Given the description of an element on the screen output the (x, y) to click on. 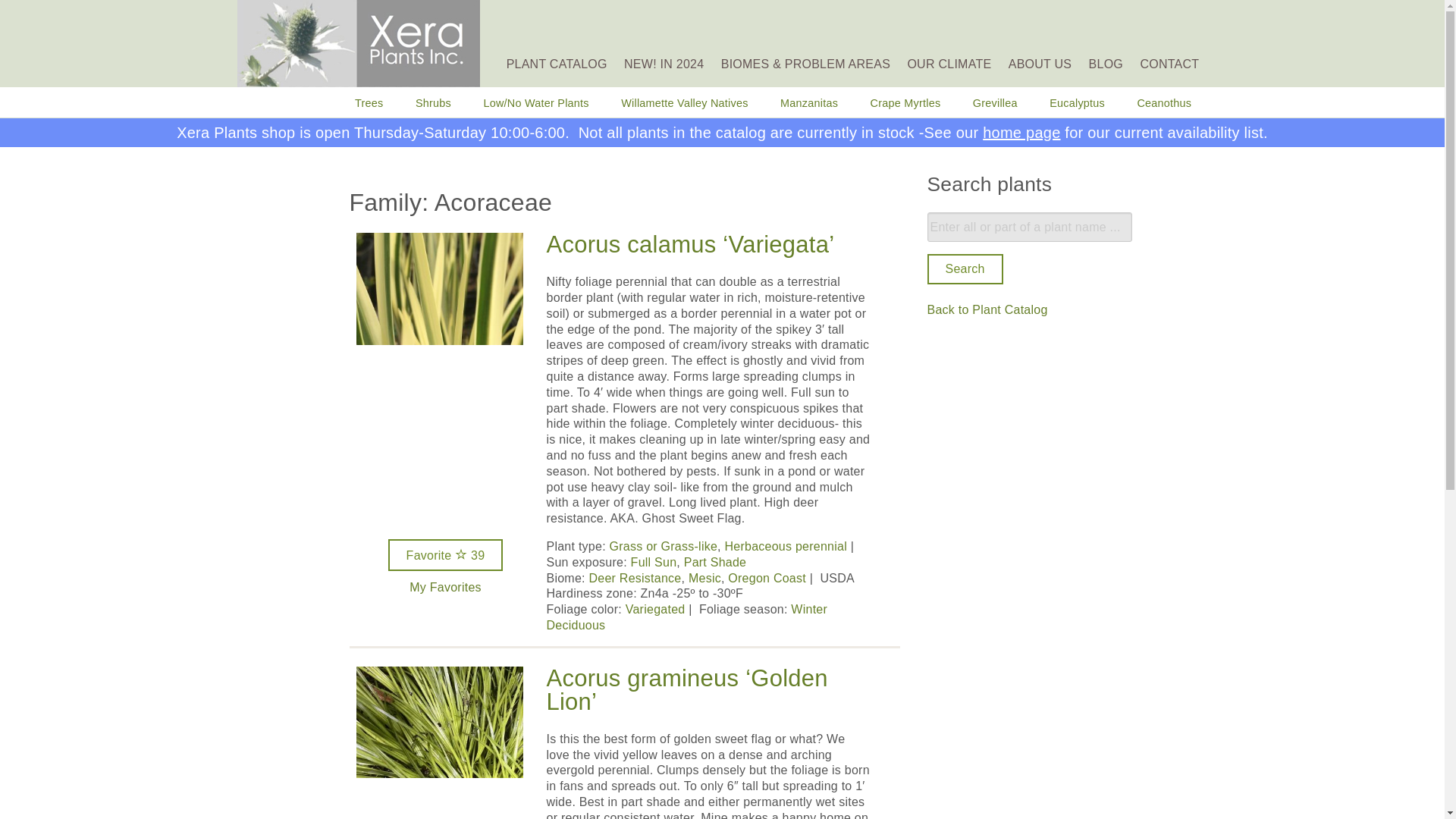
Search (964, 268)
Search (964, 268)
